Given the description of an element on the screen output the (x, y) to click on. 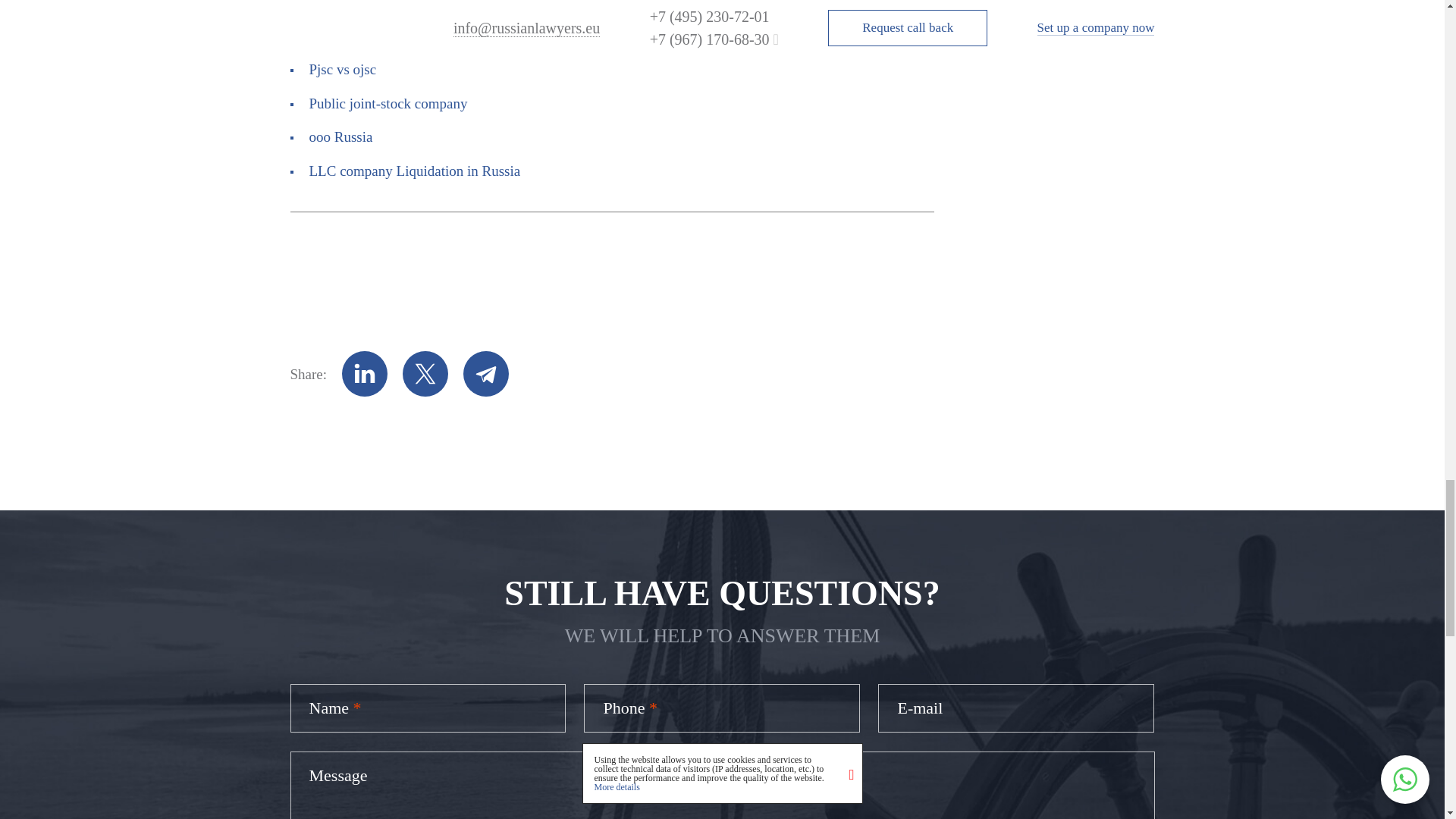
Telegram (485, 373)
Twitter (425, 373)
LinkedIn (364, 373)
